Given the description of an element on the screen output the (x, y) to click on. 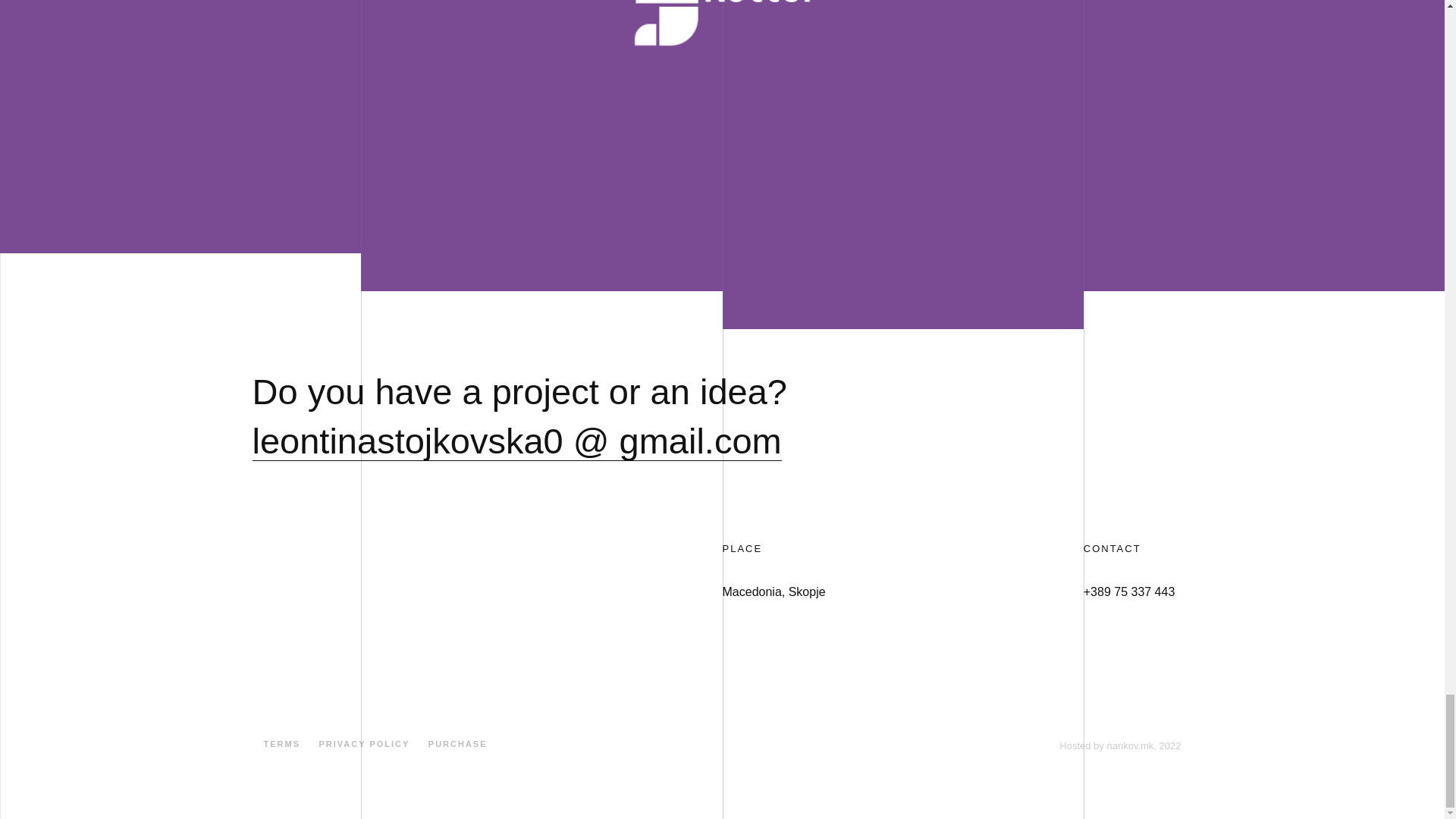
PURCHASE (457, 743)
TERMS (282, 743)
PRIVACY POLICY (363, 743)
